Given the description of an element on the screen output the (x, y) to click on. 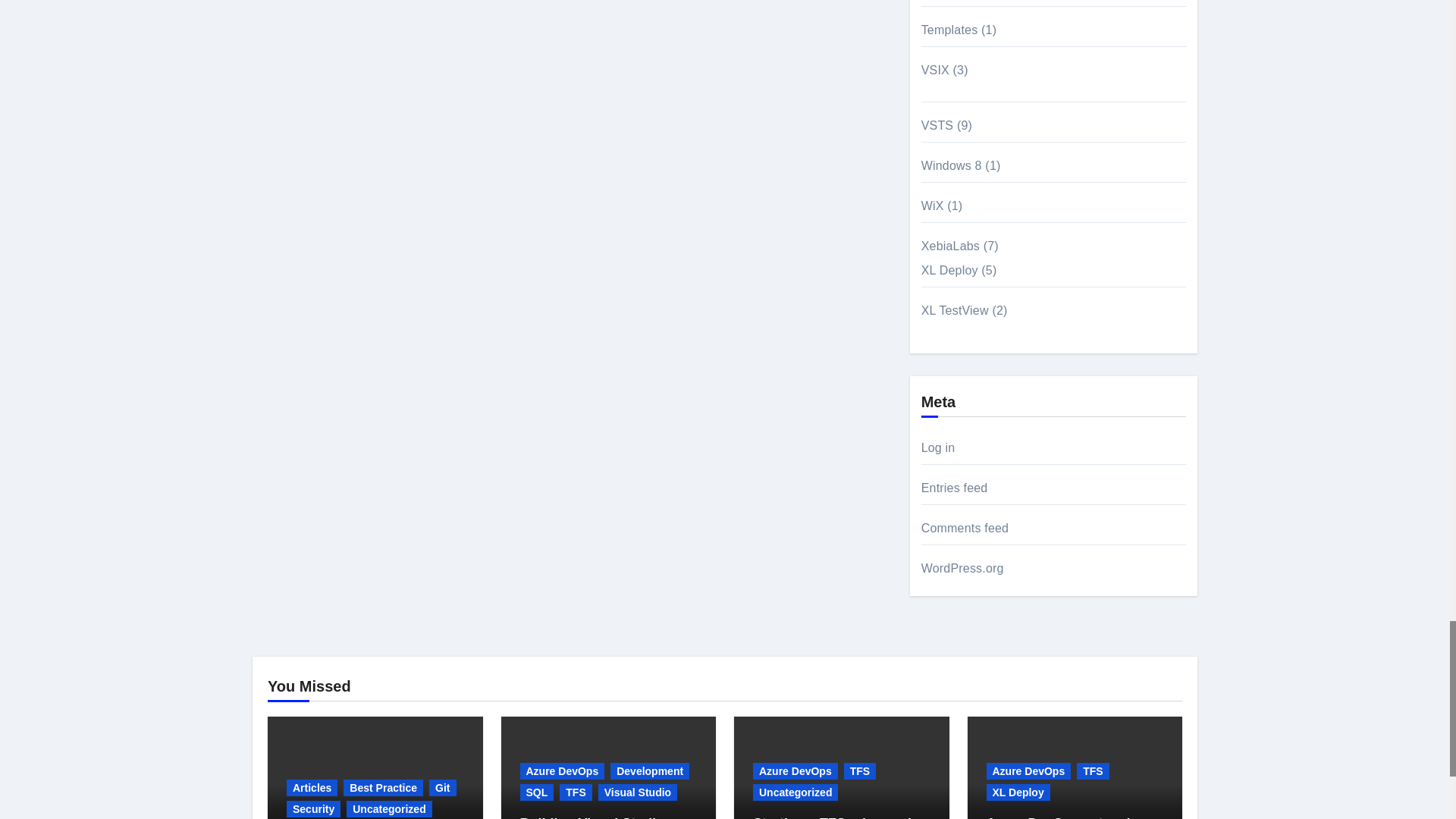
Permalink to: Starting a TFS release via REST API (835, 817)
Permalink to: Azure DevOps extension for XL Deploy (1066, 817)
